Given the description of an element on the screen output the (x, y) to click on. 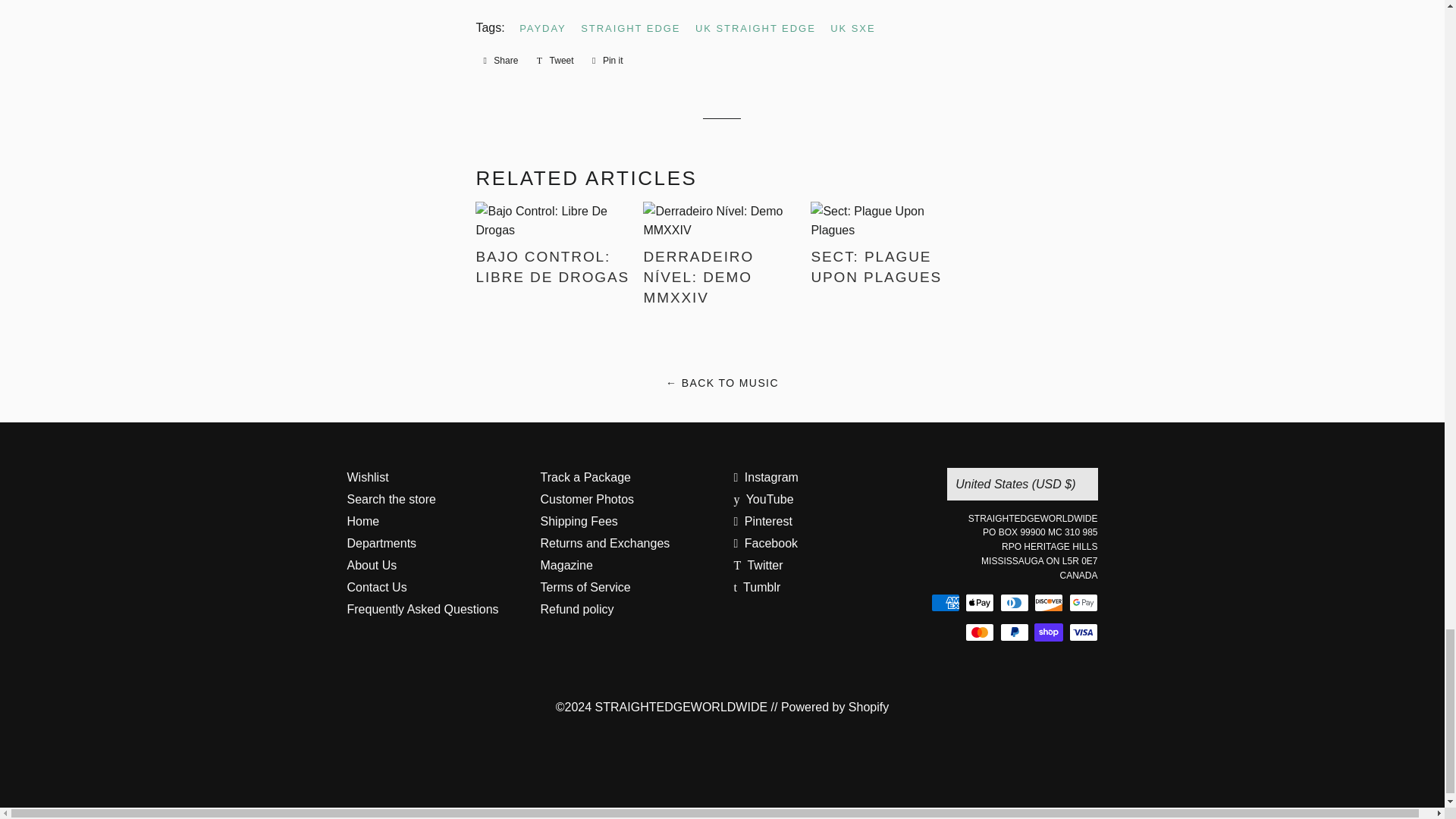
STRAIGHTEDGEWORLDWIDE on Instagram (765, 477)
STRAIGHTEDGEWORLDWIDE on Twitter (758, 564)
Shop Pay (1047, 632)
American Express (945, 602)
STRAIGHTEDGEWORLDWIDE on YouTube (763, 499)
Share on Facebook (500, 60)
Apple Pay (979, 602)
Pin on Pinterest (607, 60)
Tweet on Twitter (554, 60)
STRAIGHTEDGEWORLDWIDE on Pinterest (762, 521)
STRAIGHTEDGEWORLDWIDE on Facebook (765, 543)
Mastercard (979, 632)
Visa (1082, 632)
Diners Club (1012, 602)
Google Pay (1082, 602)
